Given the description of an element on the screen output the (x, y) to click on. 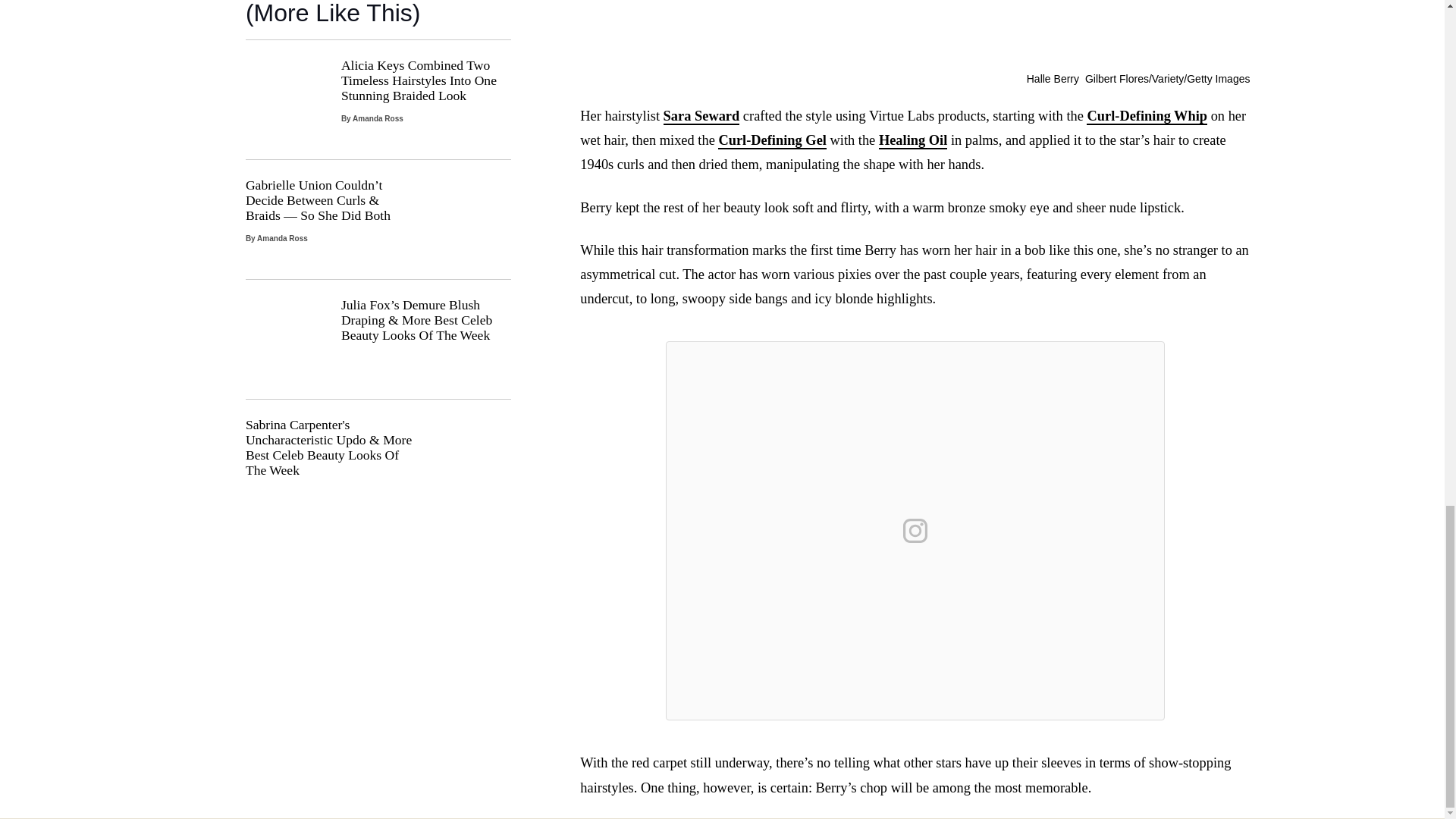
Sara Seward (701, 116)
View on Instagram (914, 530)
Curl-Defining Gel (772, 140)
Healing Oil (913, 140)
Curl-Defining Whip (1146, 116)
